Given the description of an element on the screen output the (x, y) to click on. 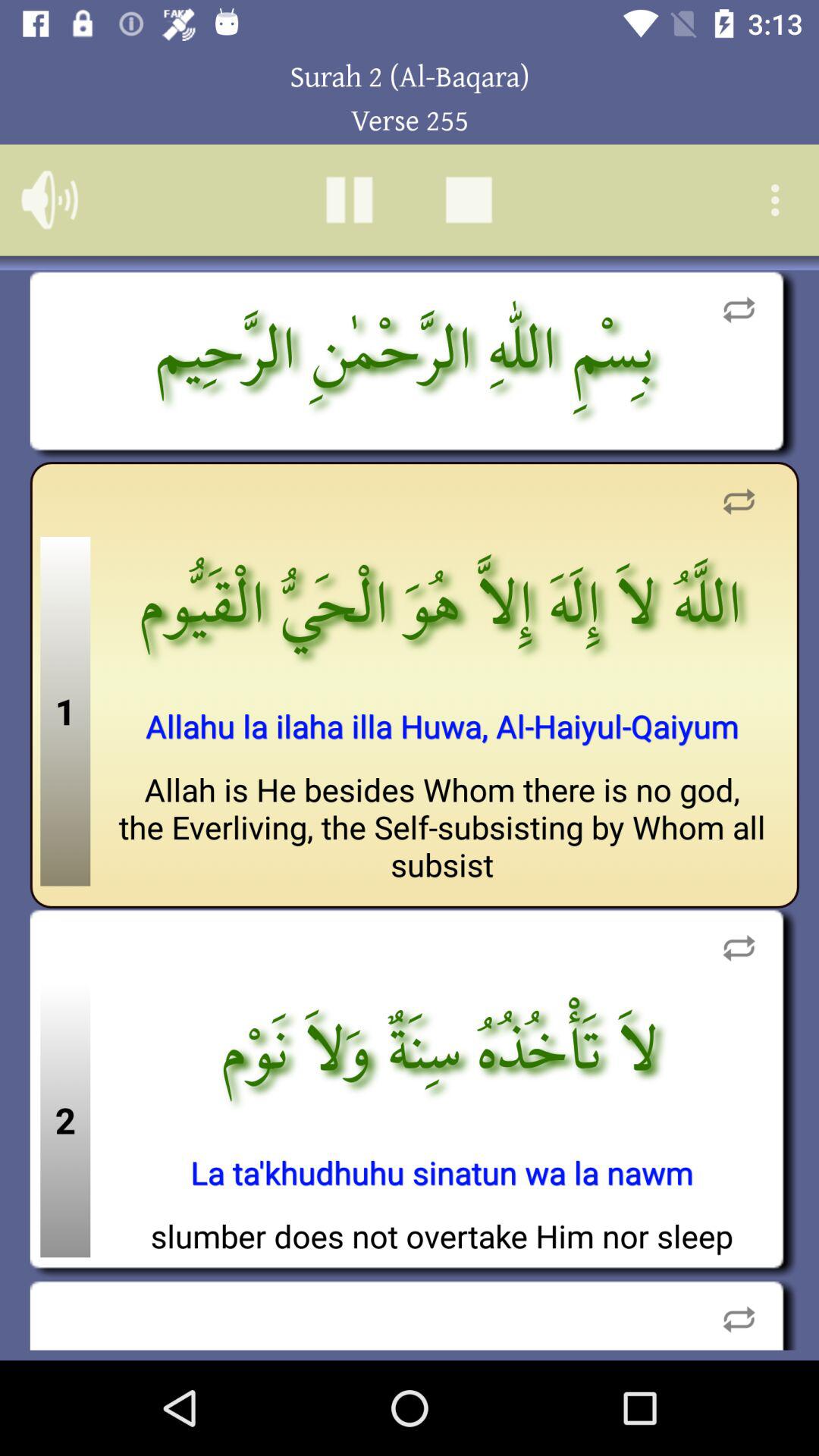
share option (738, 309)
